Given the description of an element on the screen output the (x, y) to click on. 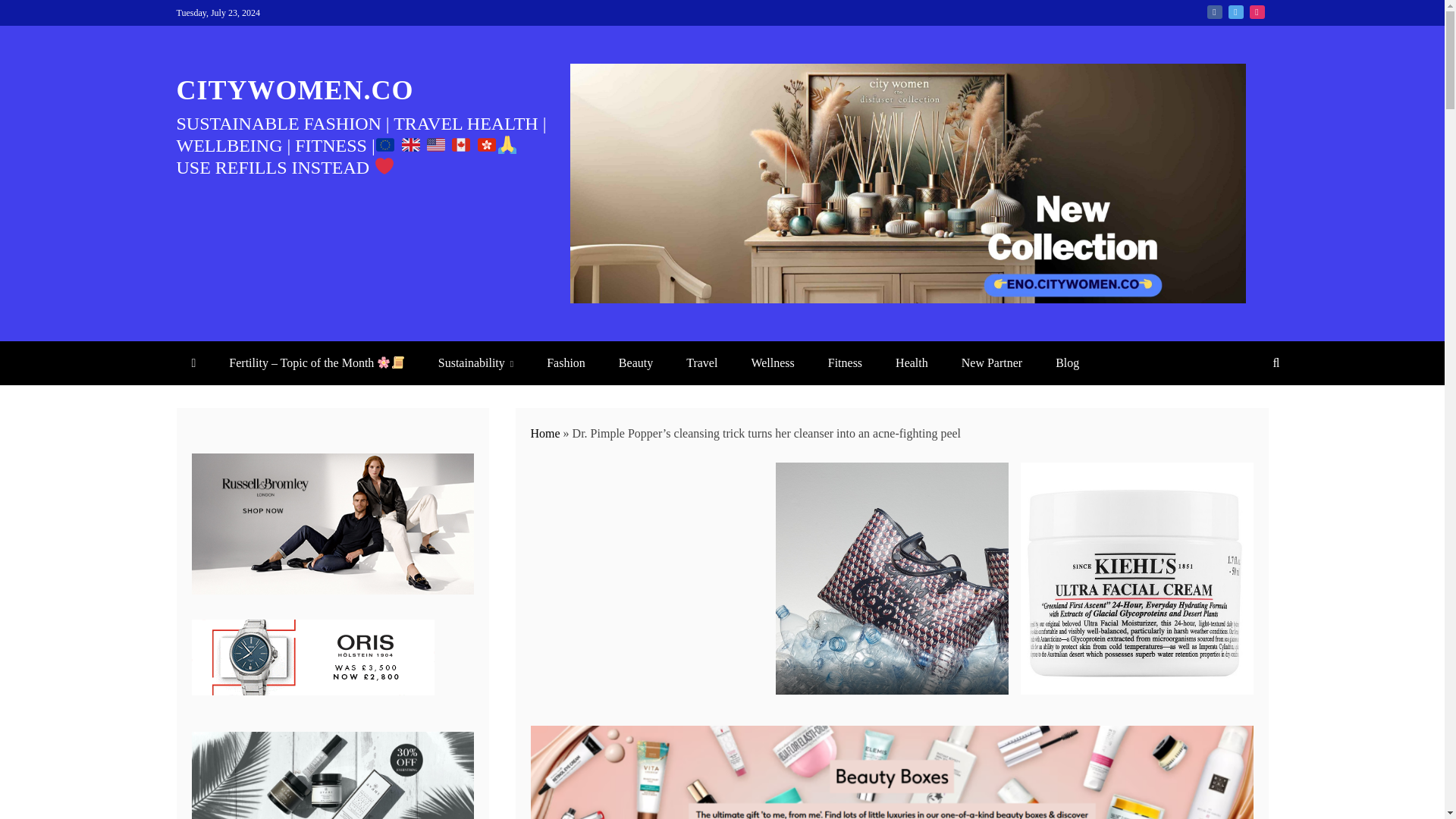
CITYWOMEN.CO (294, 90)
Twitter (1235, 11)
New Partner (991, 362)
Wellness (772, 362)
Instagram (1257, 11)
Fitness (844, 362)
Home (545, 432)
Facebook (1215, 11)
Travel (701, 362)
Blog (1067, 362)
Health (911, 362)
Sustainability (475, 362)
Fashion (565, 362)
Beauty (636, 362)
